Given the description of an element on the screen output the (x, y) to click on. 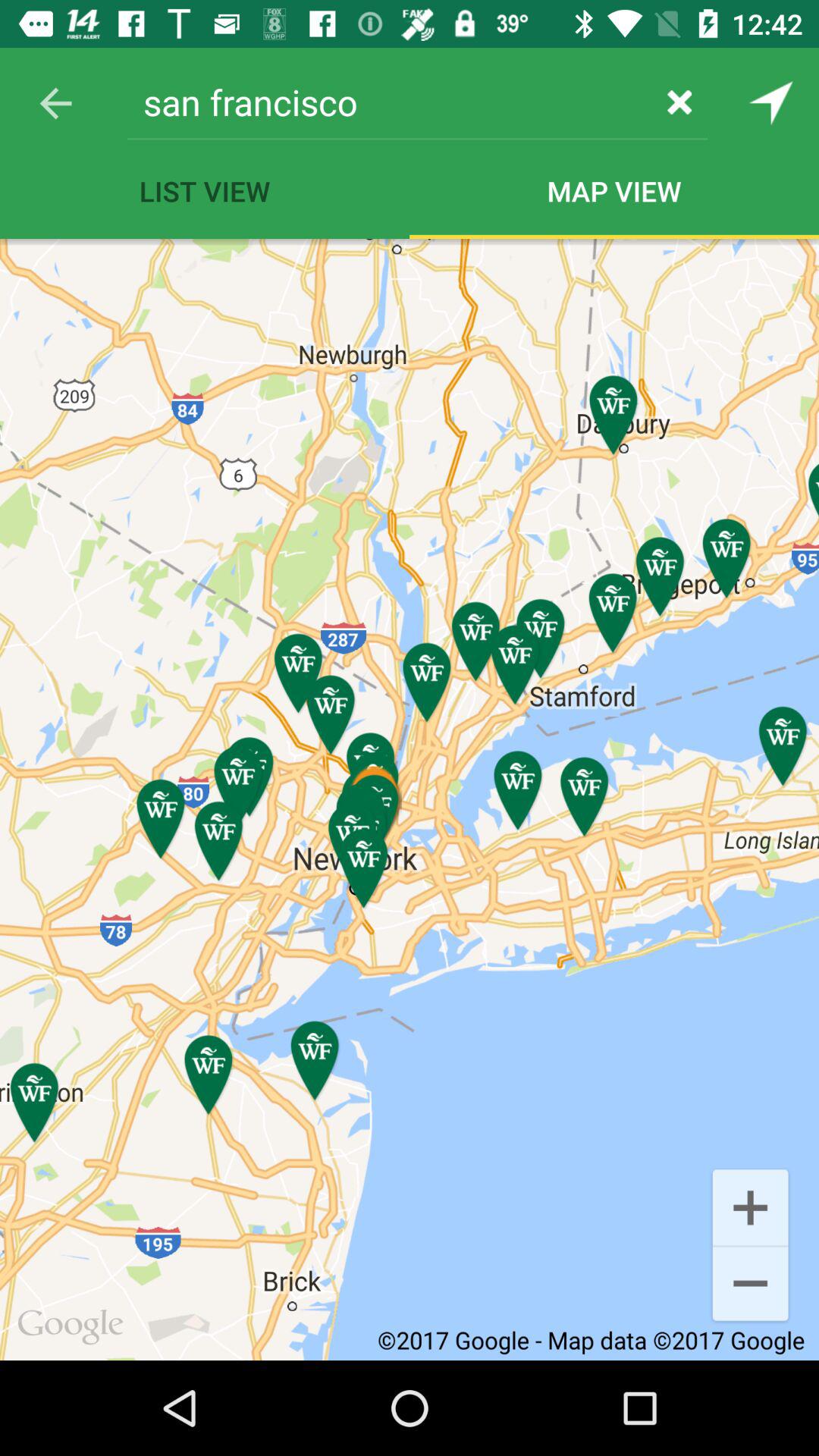
swipe until the san francisco icon (389, 102)
